Given the description of an element on the screen output the (x, y) to click on. 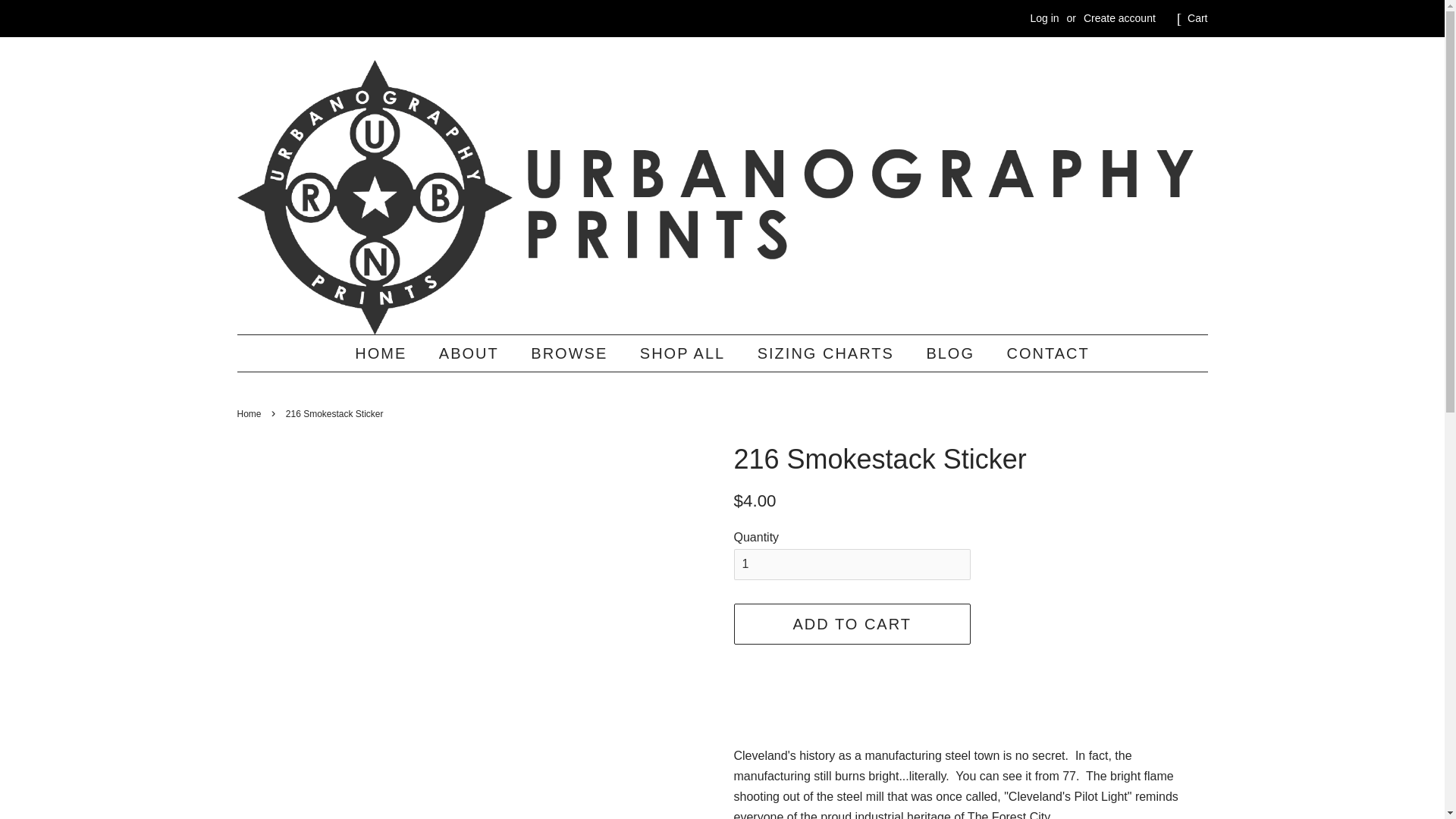
BLOG (952, 352)
Create account (1119, 18)
SHOP ALL (683, 352)
Log in (1043, 18)
HOME (388, 352)
ADD TO CART (852, 623)
BROWSE (571, 352)
Back to the frontpage (249, 413)
ABOUT (470, 352)
1 (852, 563)
